Given the description of an element on the screen output the (x, y) to click on. 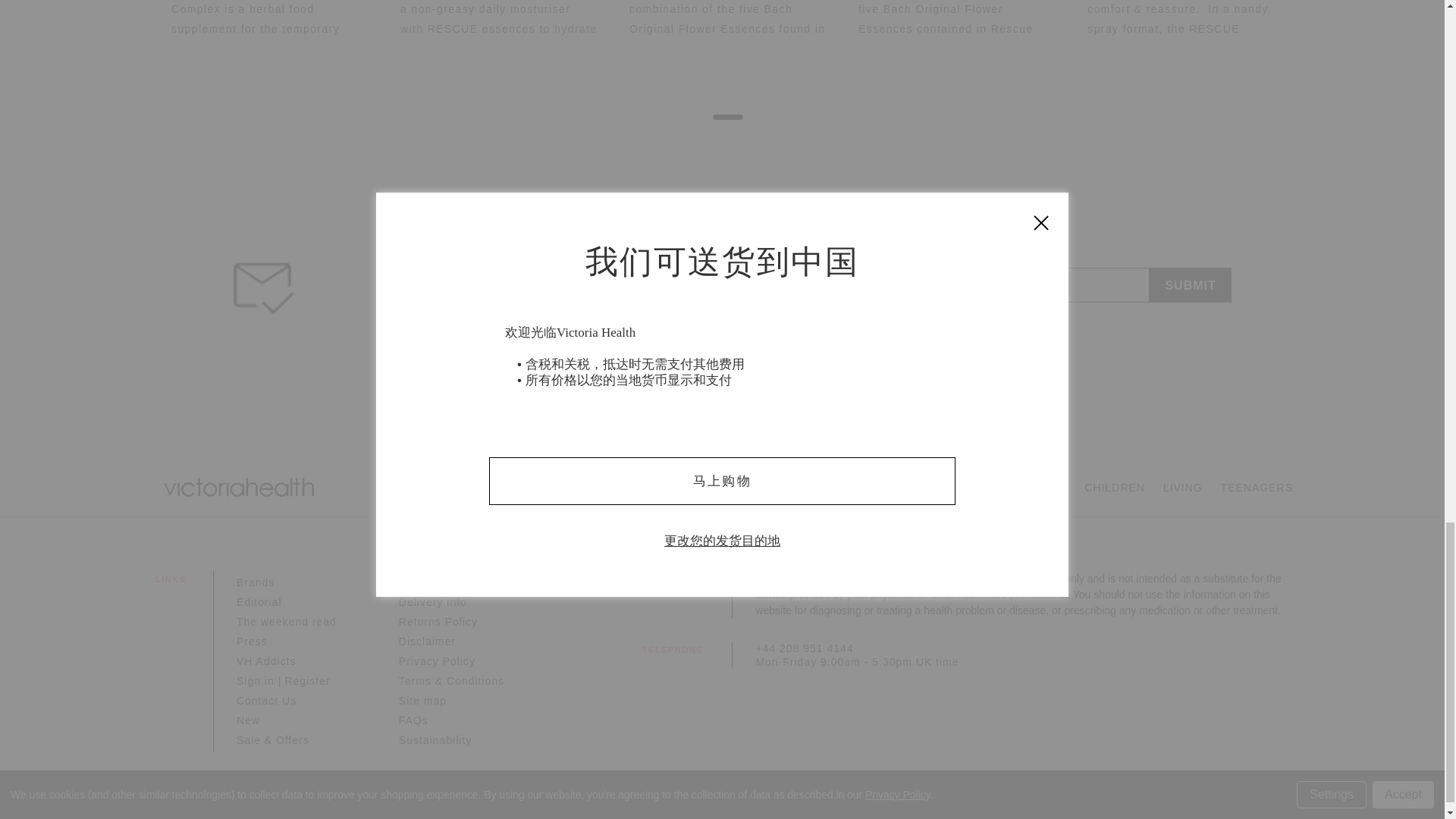
Submit (1190, 284)
